Given the description of an element on the screen output the (x, y) to click on. 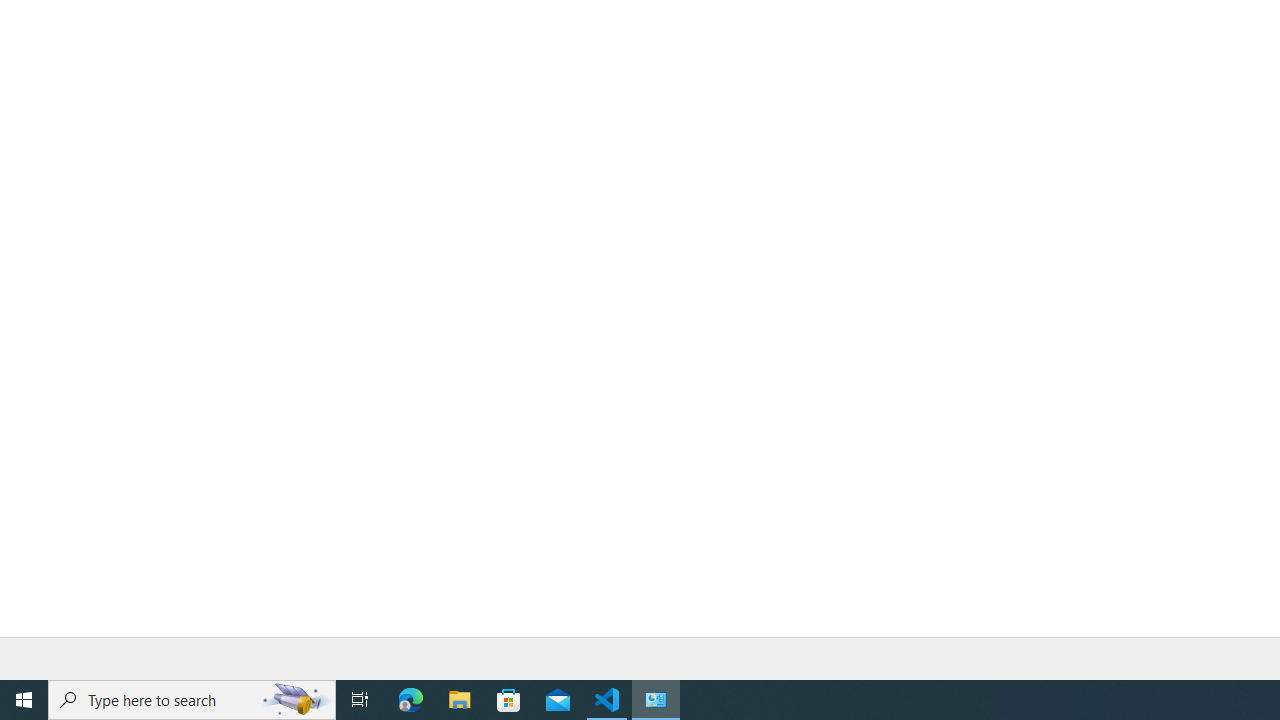
Control Panel - 1 running window (656, 699)
